Given the description of an element on the screen output the (x, y) to click on. 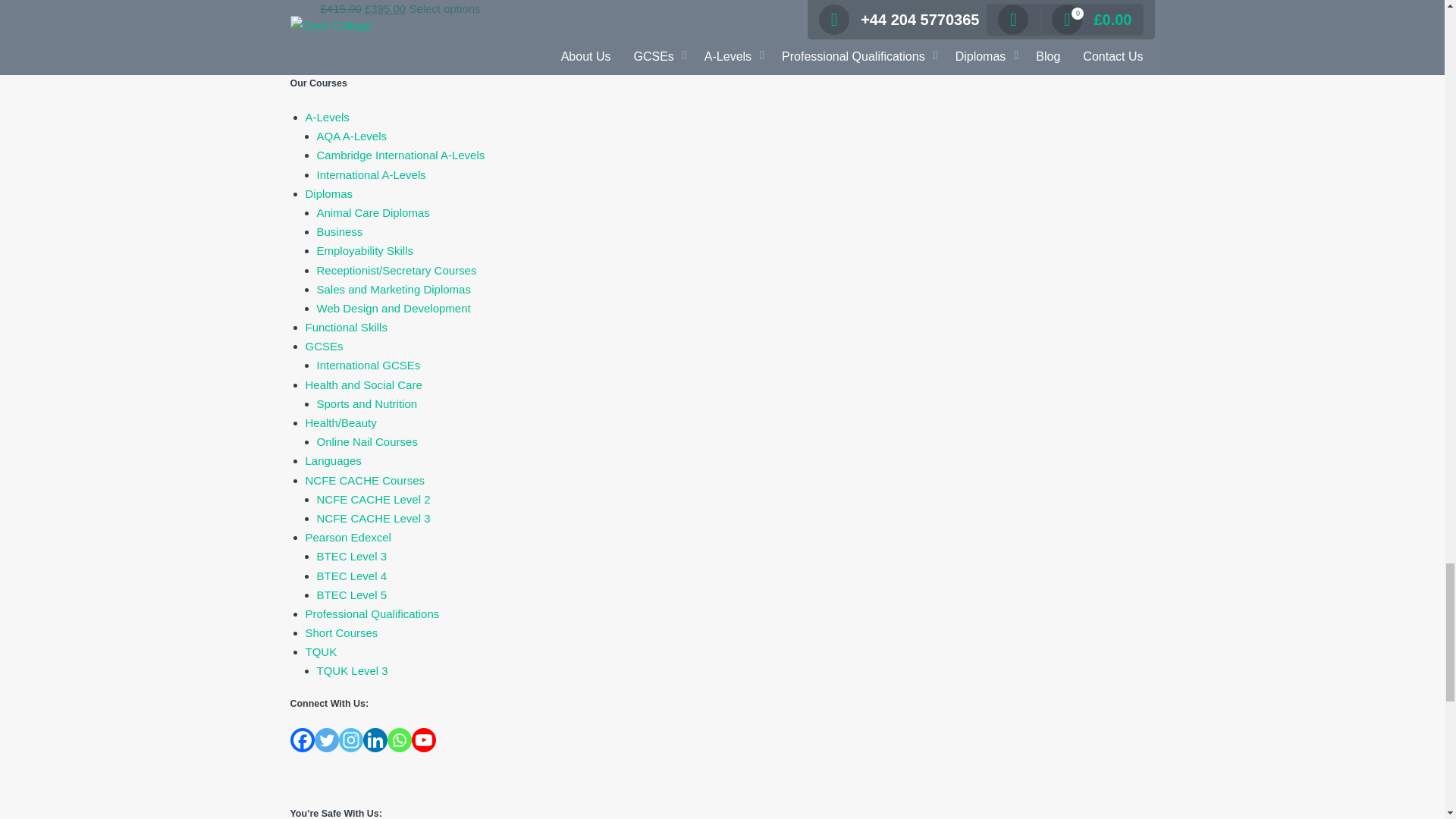
Linkedin Company (374, 740)
Facebook (301, 740)
Instagram (349, 740)
Whatsapp (398, 740)
Twitter (325, 740)
Youtube (422, 740)
